Given the description of an element on the screen output the (x, y) to click on. 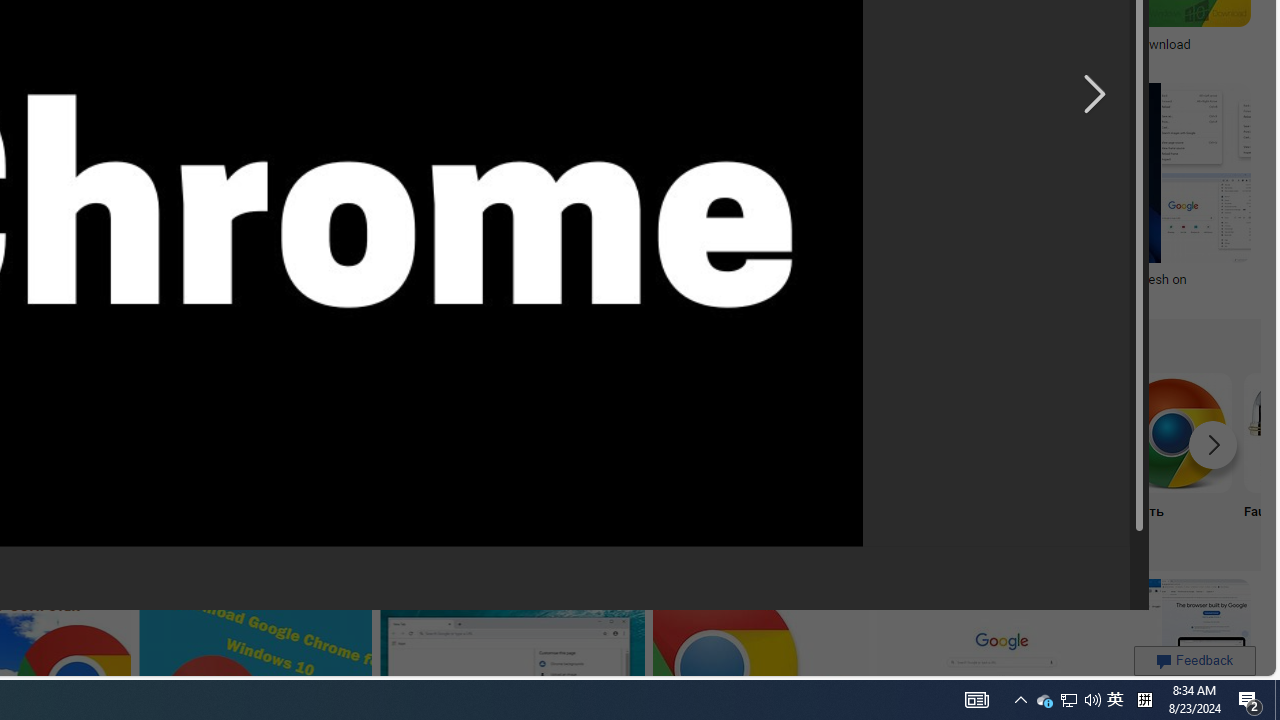
Chrome New Logo (511, 432)
Feedback (1194, 660)
Get Google (380, 457)
Download for PC (116, 457)
